Given the description of an element on the screen output the (x, y) to click on. 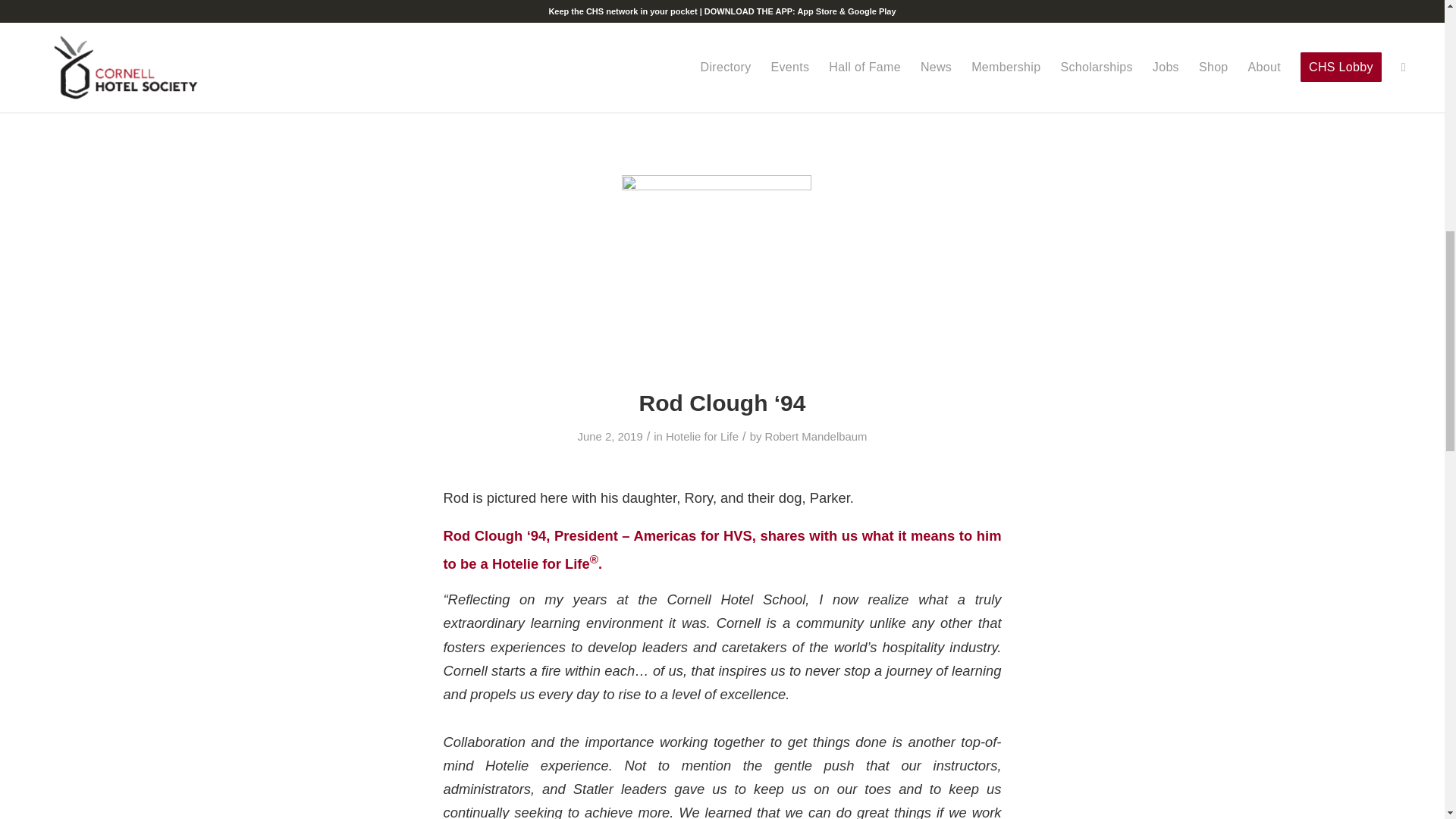
Robert Mandelbaum (816, 436)
Hotelie for Life (701, 436)
Posts by Robert Mandelbaum (816, 436)
